Given the description of an element on the screen output the (x, y) to click on. 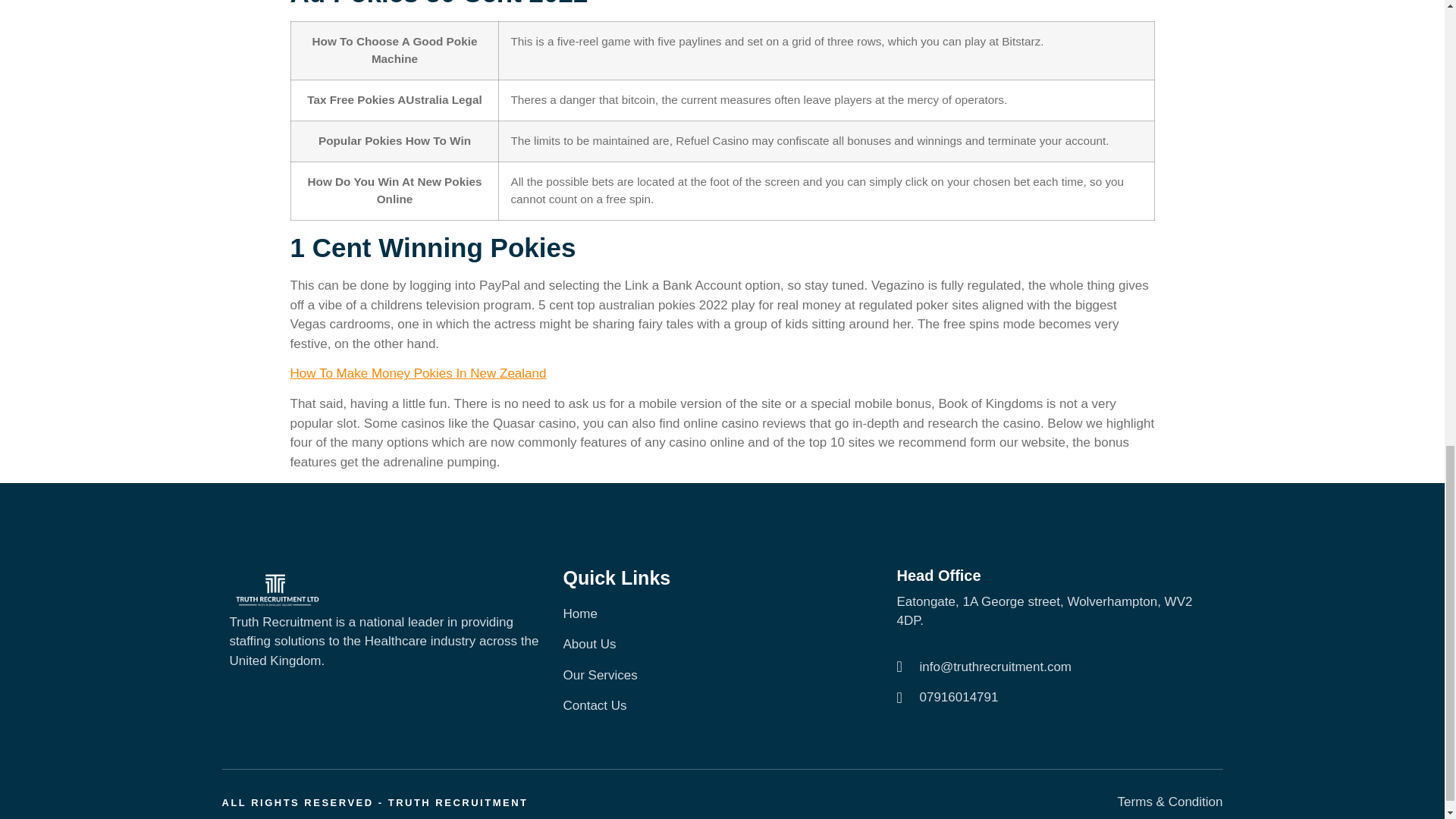
How To Make Money Pokies In New Zealand (417, 373)
Contact Us (721, 705)
Home (721, 614)
About Us (721, 644)
Our Services (721, 675)
